Given the description of an element on the screen output the (x, y) to click on. 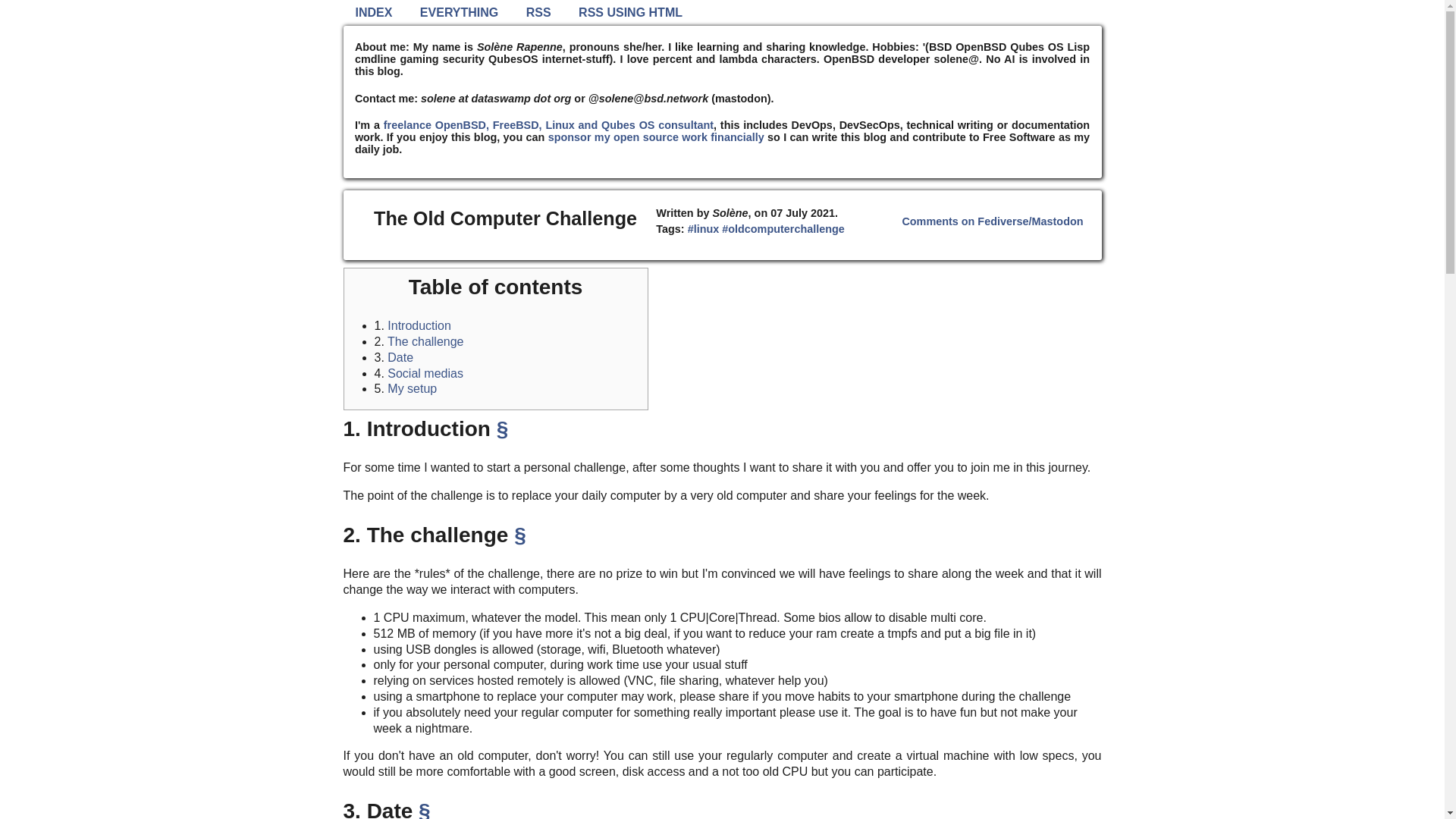
sponsor my open source work financially (656, 137)
Social medias (425, 373)
Date (400, 357)
EVERYTHING (459, 12)
The challenge (425, 341)
RSS (538, 12)
RSS USING HTML (630, 12)
freelance OpenBSD, FreeBSD, Linux and Qubes OS consultant (548, 124)
Introduction (419, 325)
The Old Computer Challenge (505, 218)
